Given the description of an element on the screen output the (x, y) to click on. 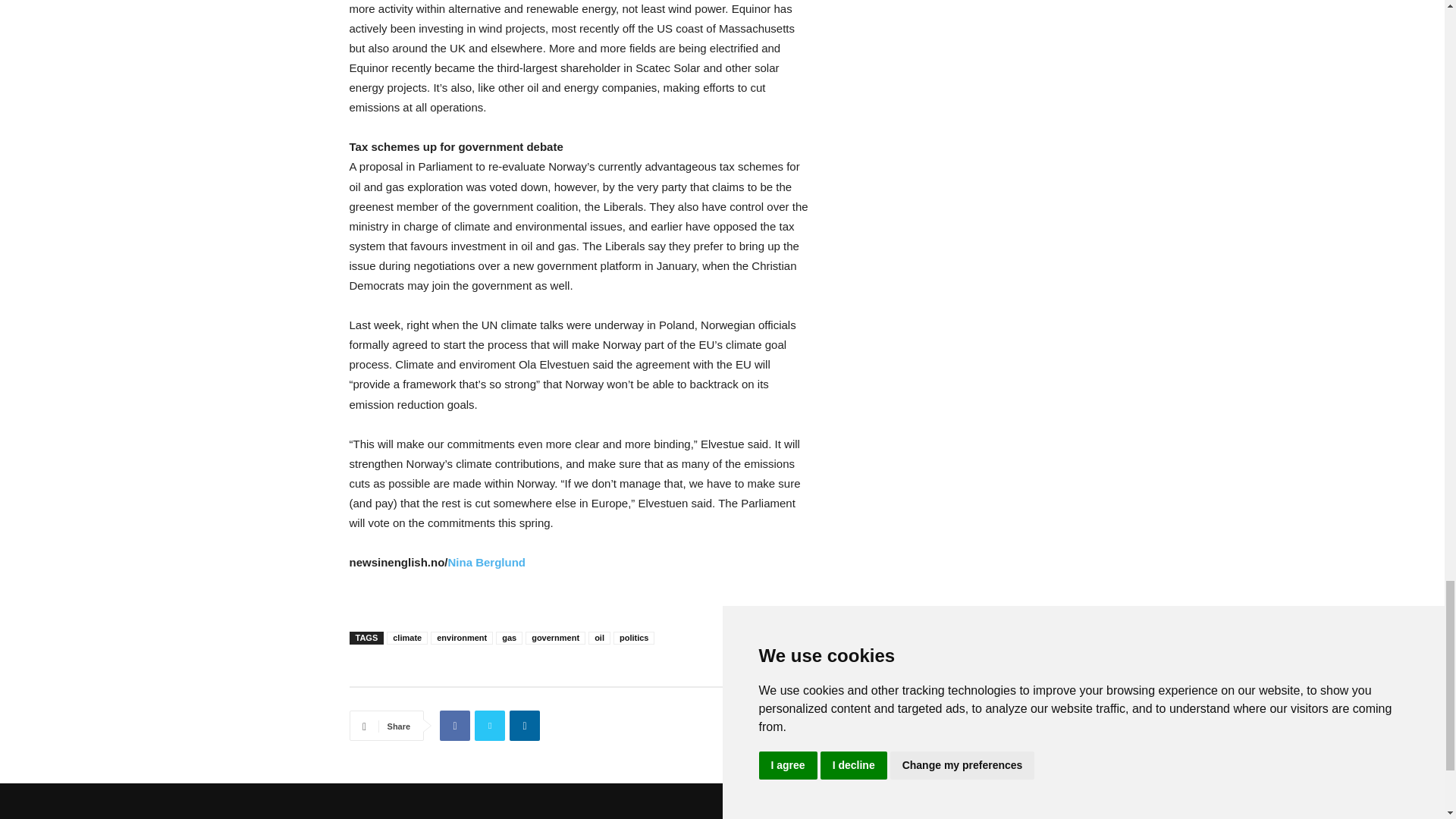
Twitter (489, 725)
Linkedin (524, 725)
Facebook (454, 725)
